Given the description of an element on the screen output the (x, y) to click on. 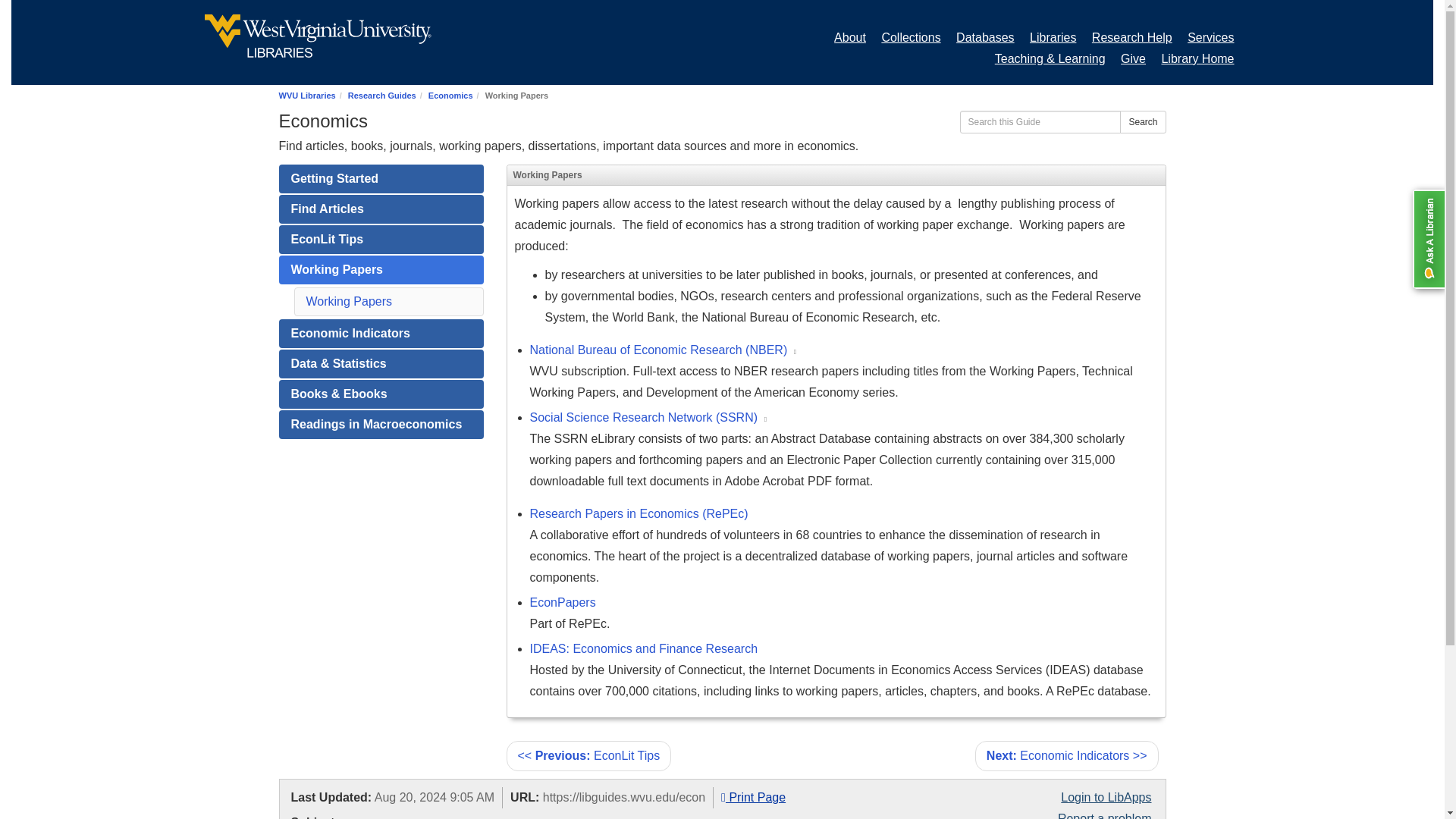
Find Articles (381, 208)
Economic Indicators (381, 333)
Databases (985, 37)
Services (1210, 37)
Collections (910, 37)
WVU Libraries (307, 94)
Research Help (1132, 37)
Working Papers (349, 300)
EconPapers (562, 602)
This link opens in a new window (794, 351)
